Given the description of an element on the screen output the (x, y) to click on. 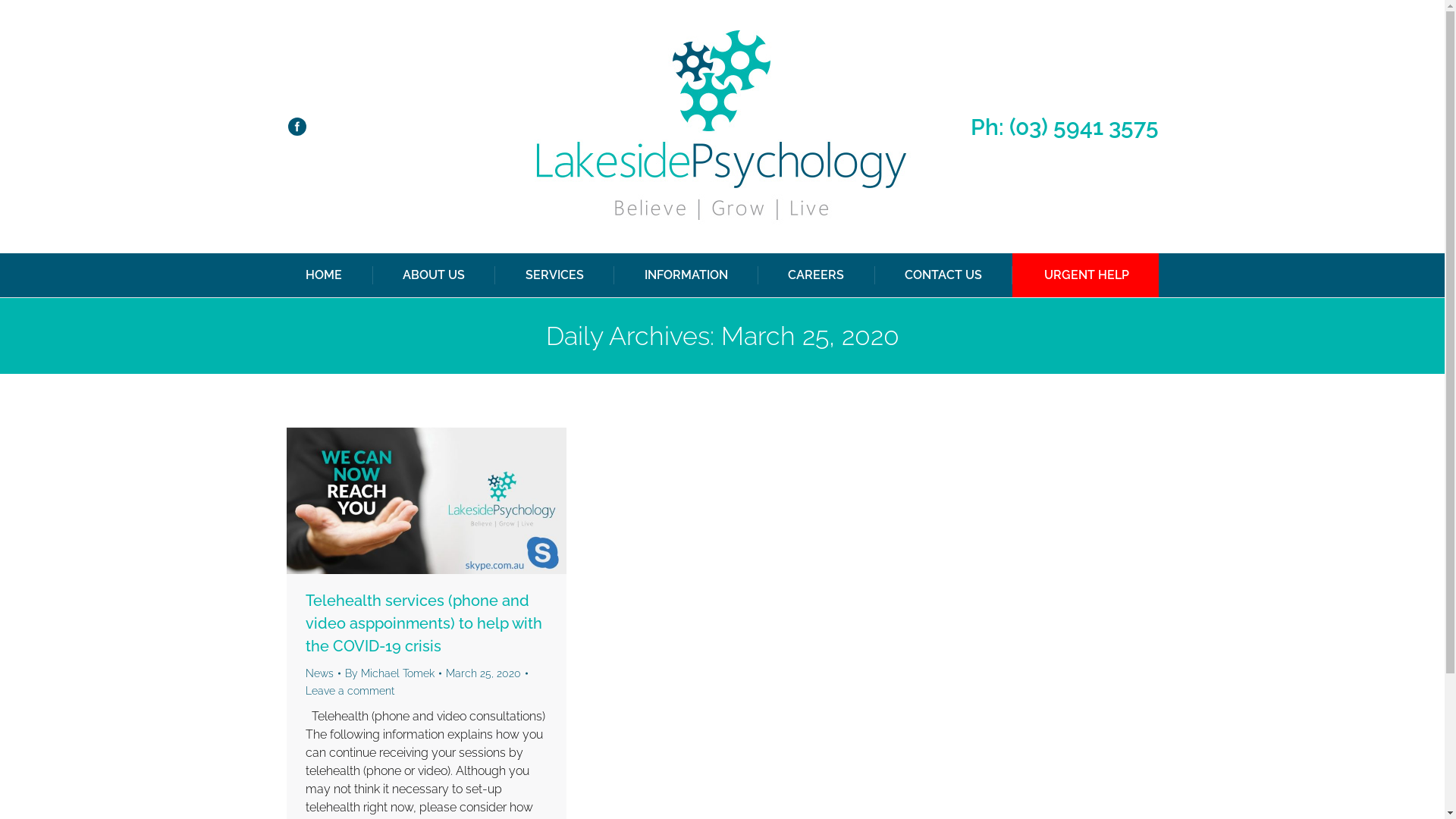
CAREERS Element type: text (815, 274)
By Michael Tomek Element type: text (392, 673)
Telehealth COVID Element type: hover (426, 500)
Facebook Element type: hover (297, 126)
Leave a comment Element type: text (348, 690)
CONTACT US Element type: text (943, 274)
URGENT HELP Element type: text (1086, 274)
INFORMATION Element type: text (686, 274)
ABOUT US Element type: text (433, 274)
SERVICES Element type: text (554, 274)
News Element type: text (318, 673)
HOME Element type: text (323, 274)
March 25, 2020 Element type: text (486, 673)
